Given the description of an element on the screen output the (x, y) to click on. 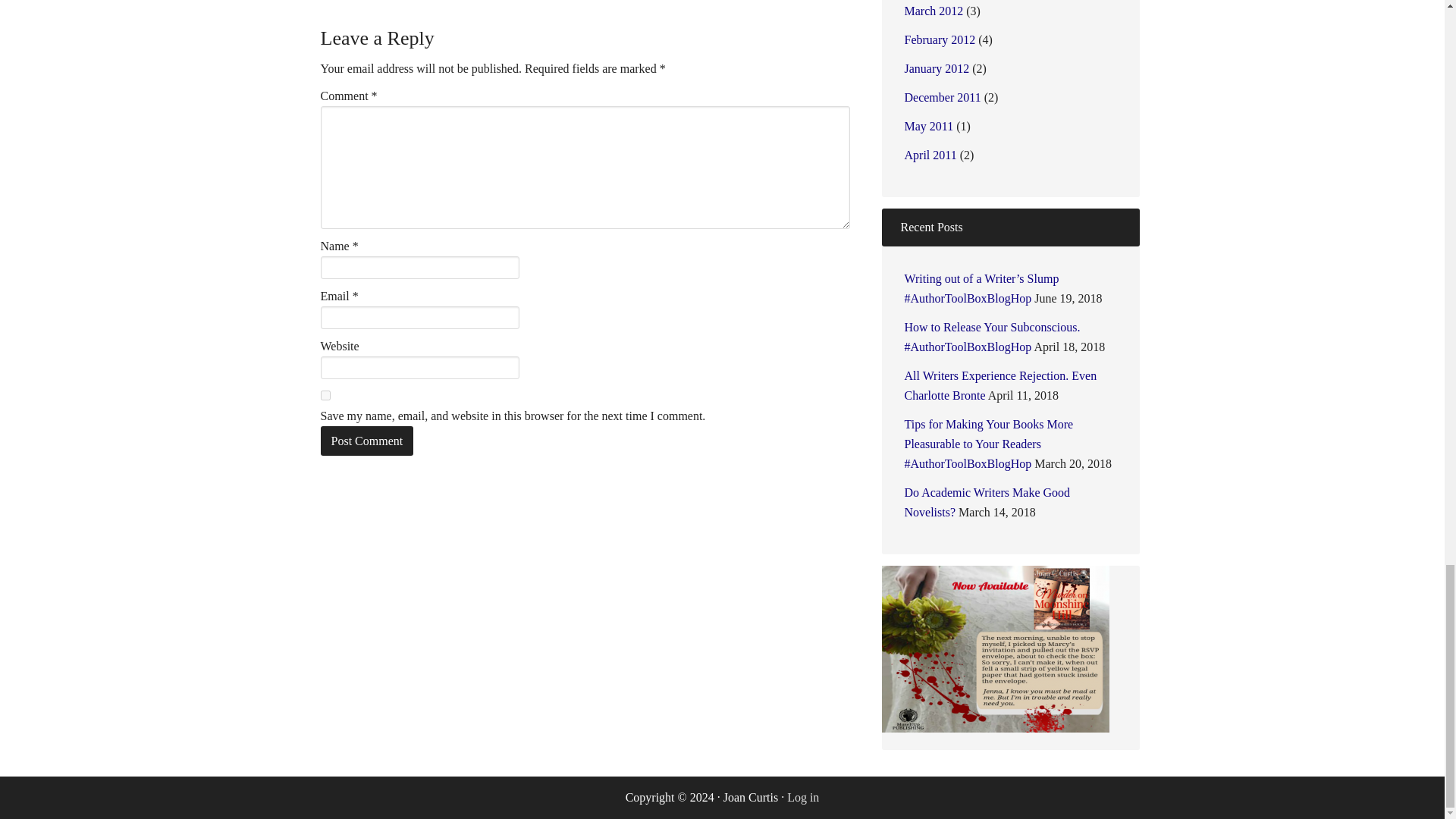
Post Comment (366, 440)
yes (325, 395)
